Given the description of an element on the screen output the (x, y) to click on. 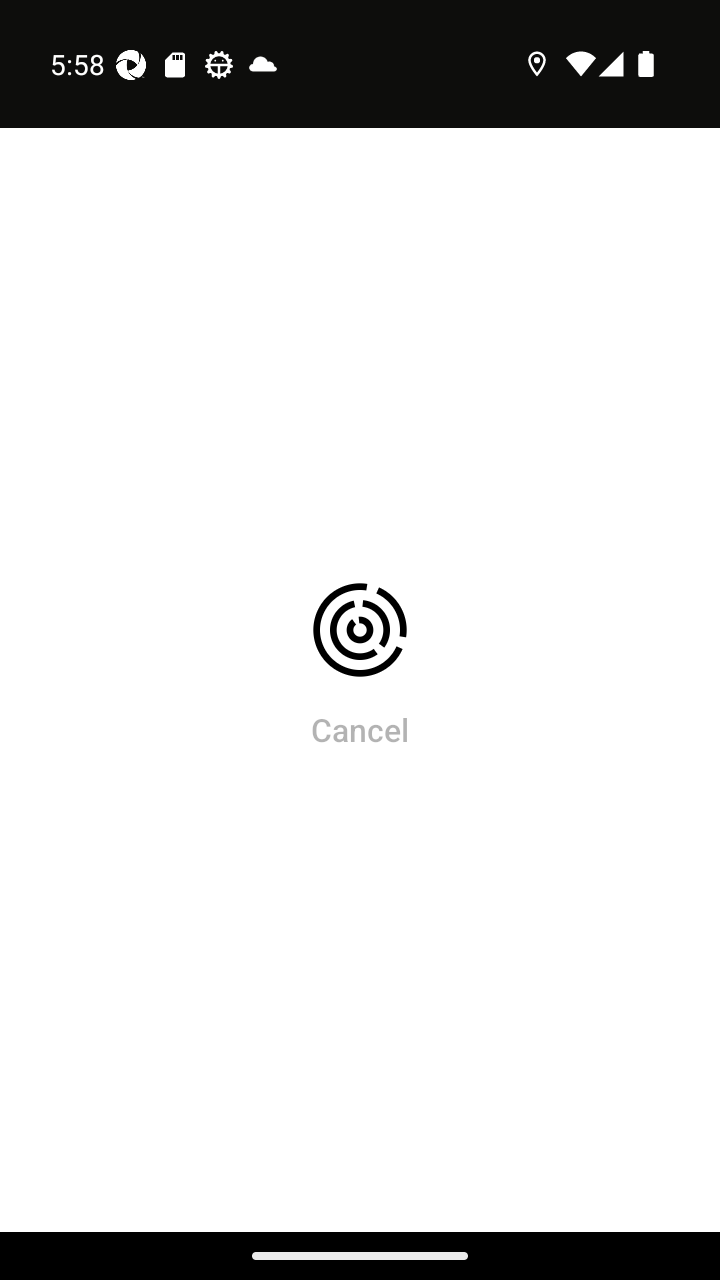
Cancel (360, 729)
